Given the description of an element on the screen output the (x, y) to click on. 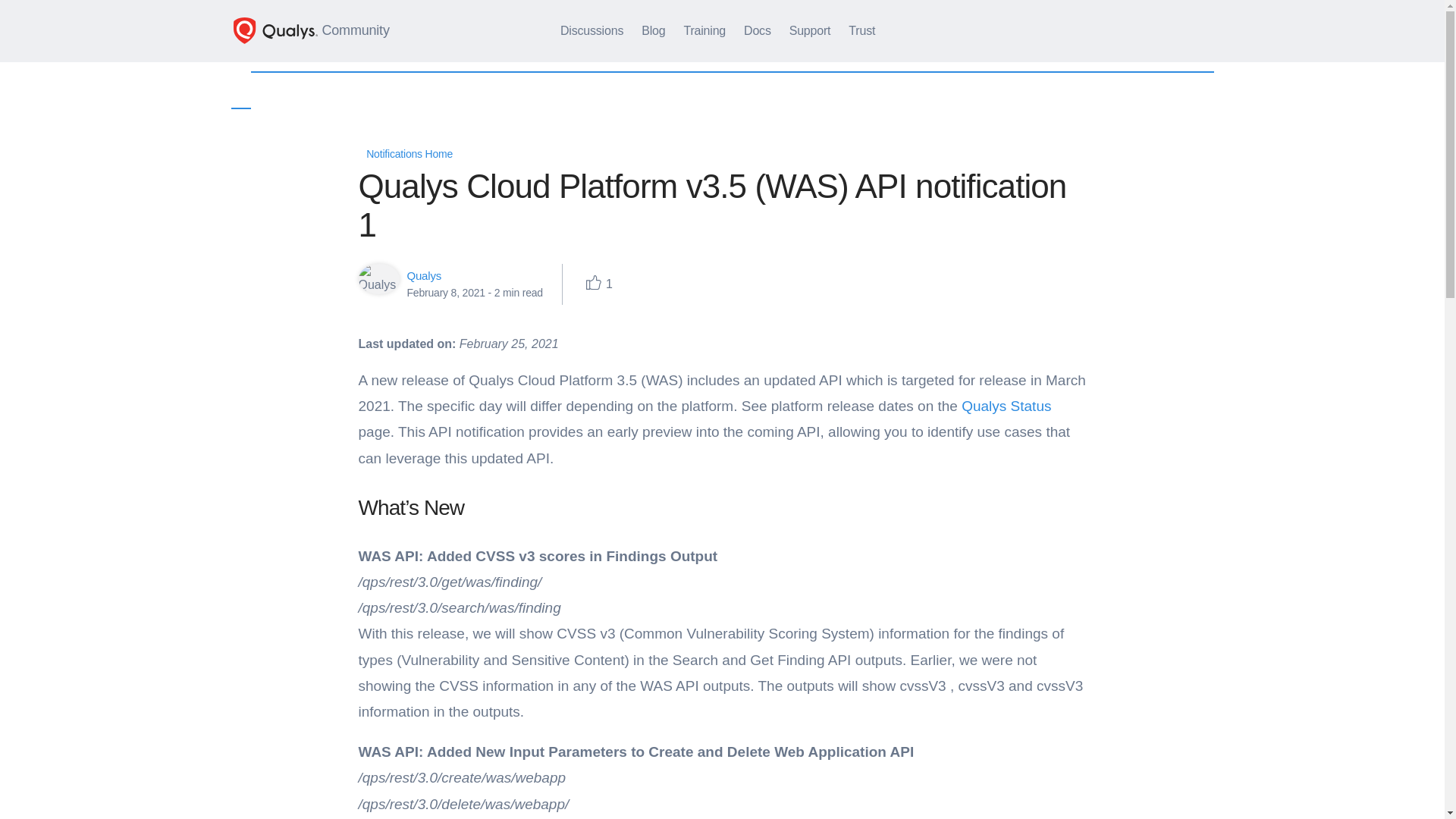
Notifications Home (405, 153)
Community (311, 30)
Docs (757, 31)
Qualys (423, 275)
Blog (652, 31)
February 8, 2021 (445, 292)
Qualys Community (311, 30)
Support (810, 31)
Discussions (591, 31)
Trust (861, 31)
Training (704, 31)
Qualys Status (1005, 406)
